Given the description of an element on the screen output the (x, y) to click on. 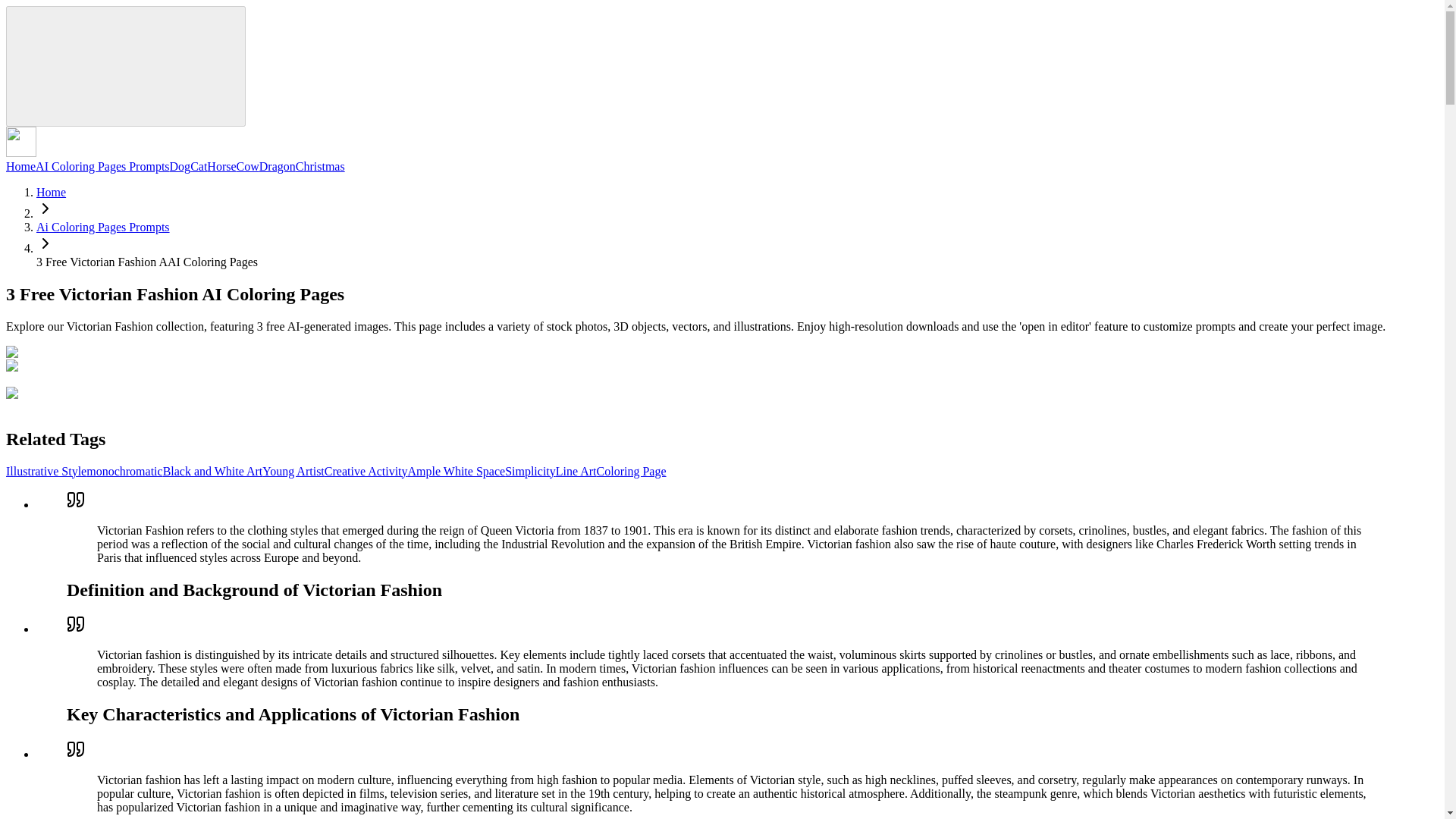
Ample White Space (456, 471)
Black and White Art (213, 471)
Dog (180, 165)
Dragon (277, 165)
Horse (220, 165)
Simplicity (530, 471)
Young Artist (293, 471)
AI Coloring Pages Prompts (101, 165)
Creative Activity (365, 471)
Ai Coloring Pages Prompts (103, 226)
Cat (198, 165)
monochromatic (123, 471)
Home (19, 165)
Illustrative Style (45, 471)
Coloring Page (631, 471)
